Given the description of an element on the screen output the (x, y) to click on. 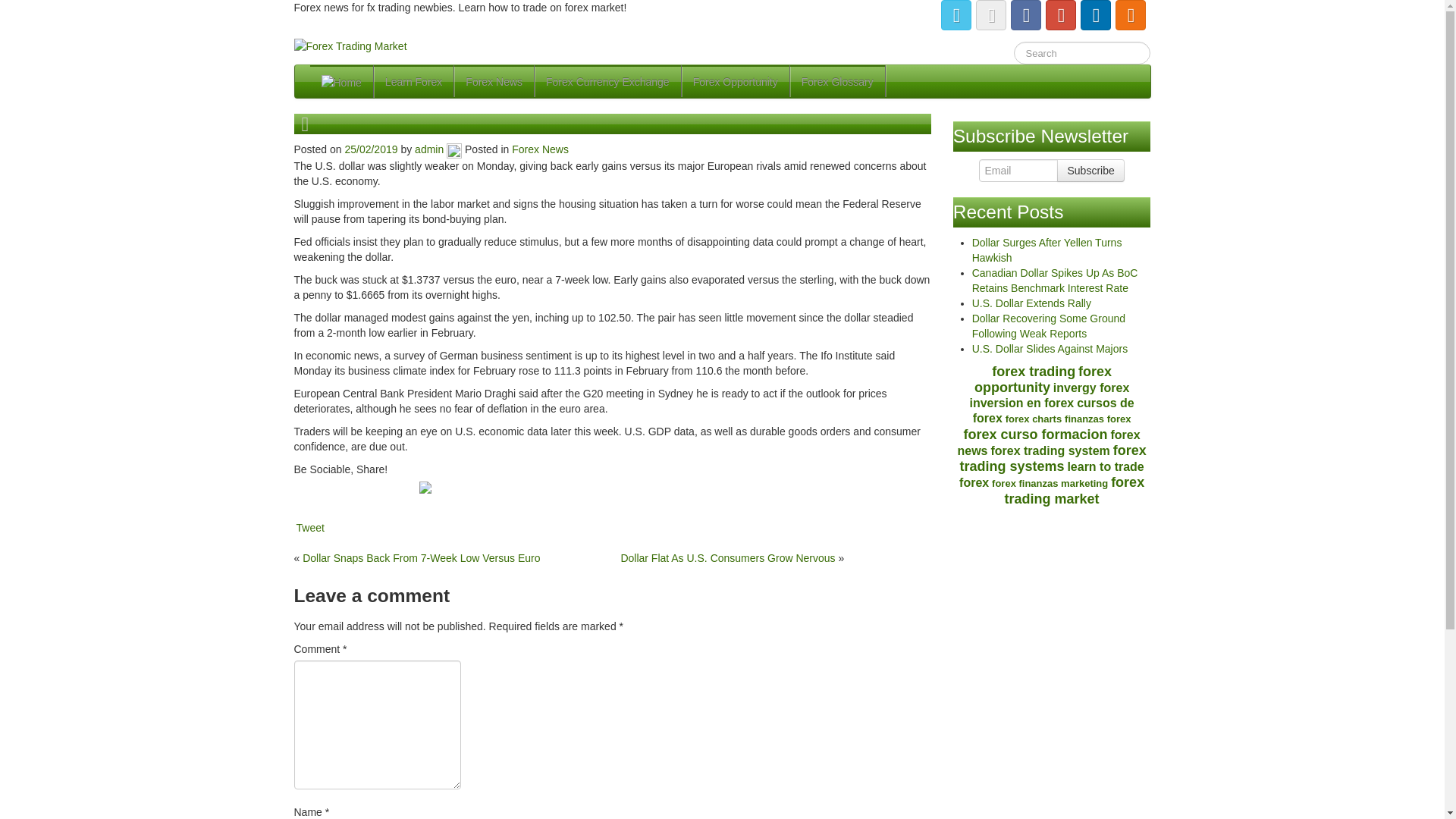
Forex Glossary (837, 81)
Add to favorites - doesn't work in Chrome (453, 497)
10:20 AM (371, 149)
Forex Trading Market Twitter (955, 15)
Forex Trading Market Rss (1130, 15)
Facebook (354, 497)
Forex Trading Market Vimeo (990, 15)
Forex Opportunity (735, 81)
View all posts by admin (453, 149)
Learn Forex (413, 81)
Forex News (494, 81)
email (395, 497)
Forex Trading Market Linkedin (1095, 15)
Forex Trading Market (350, 45)
Subscribe (1090, 169)
